Given the description of an element on the screen output the (x, y) to click on. 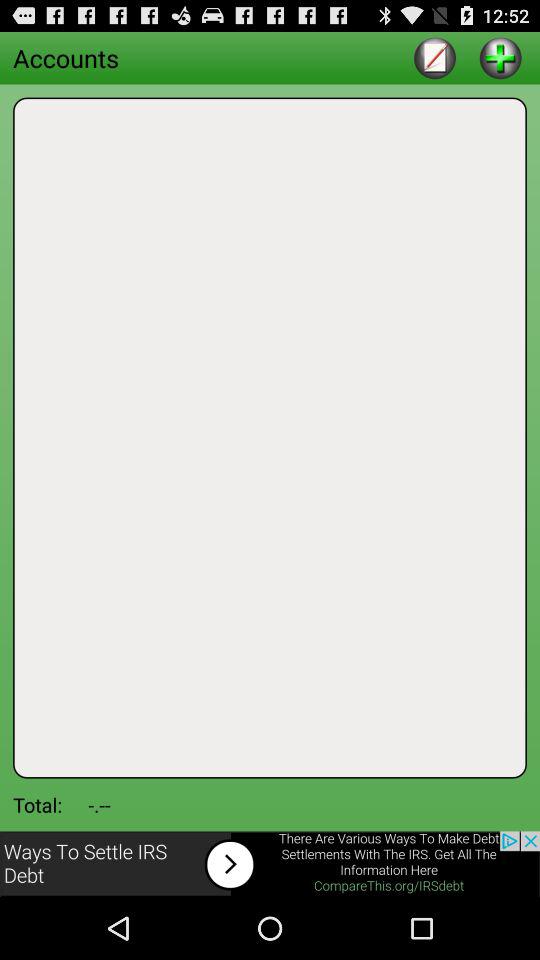
add a new account (500, 57)
